Given the description of an element on the screen output the (x, y) to click on. 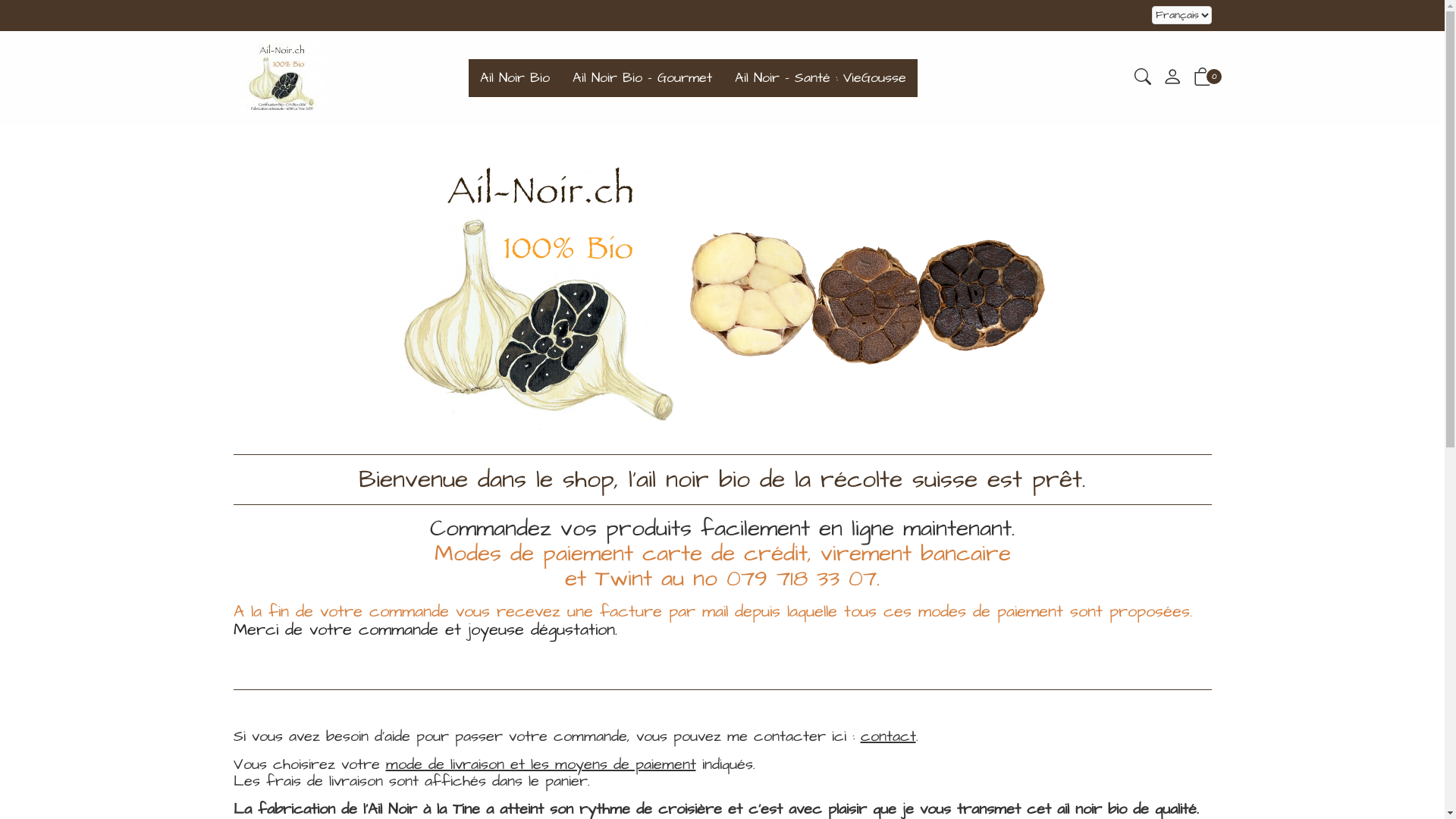
mode de livraison et les moyens de paiement Element type: text (540, 764)
Ail Noir Bio - Gourmet Element type: text (642, 78)
Mon compte Element type: hover (1171, 80)
Recherche Element type: hover (1142, 79)
Accueil Element type: hover (536, 296)
Ail Noir Bio Element type: text (514, 78)
0 Element type: text (1202, 79)
contact Element type: text (887, 735)
